Given the description of an element on the screen output the (x, y) to click on. 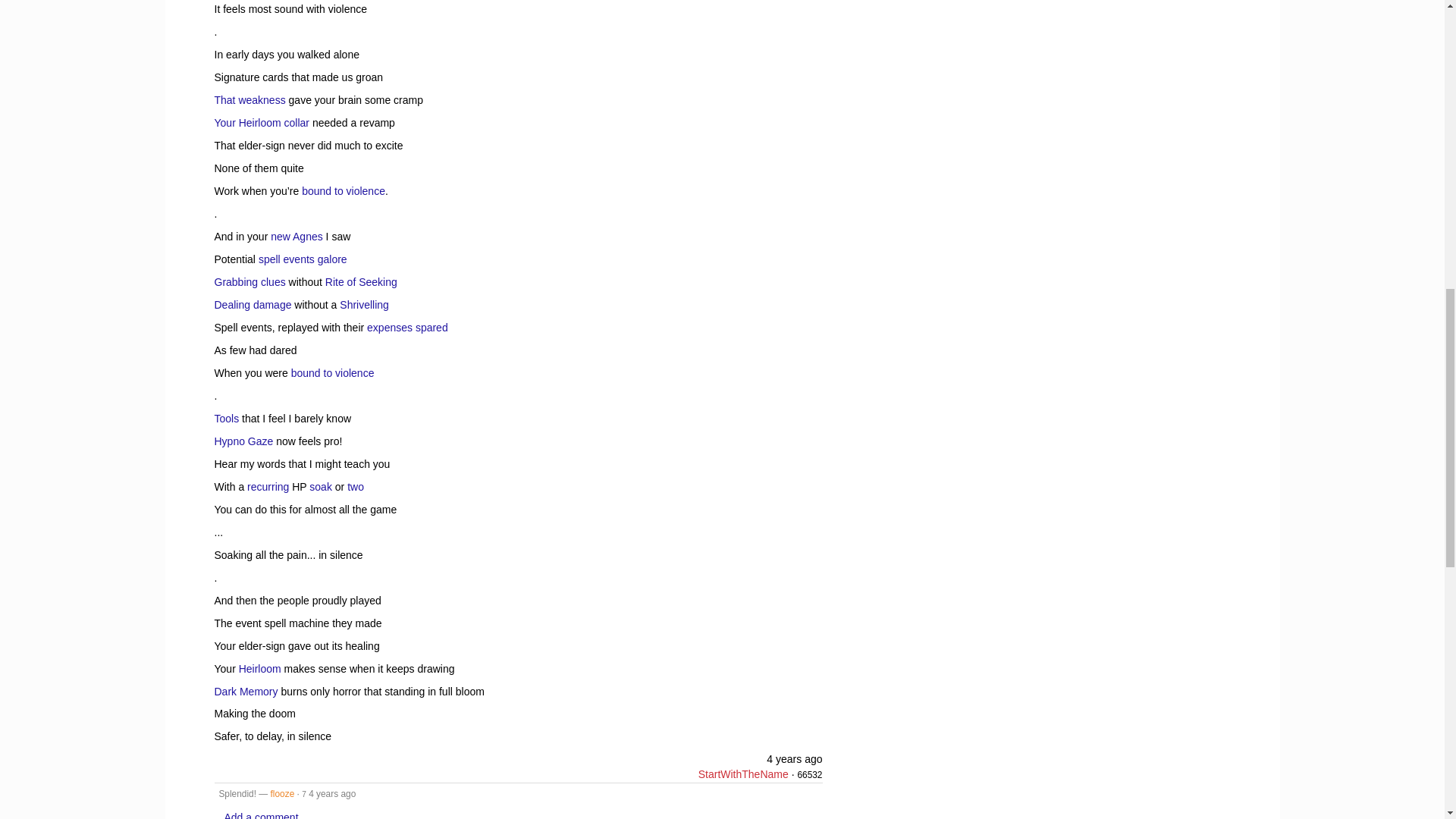
Monday, January 18, 2021 2:24 PM (331, 793)
Sunday, December 27, 2020 8:30 PM (794, 758)
User Reputation (809, 774)
